Given the description of an element on the screen output the (x, y) to click on. 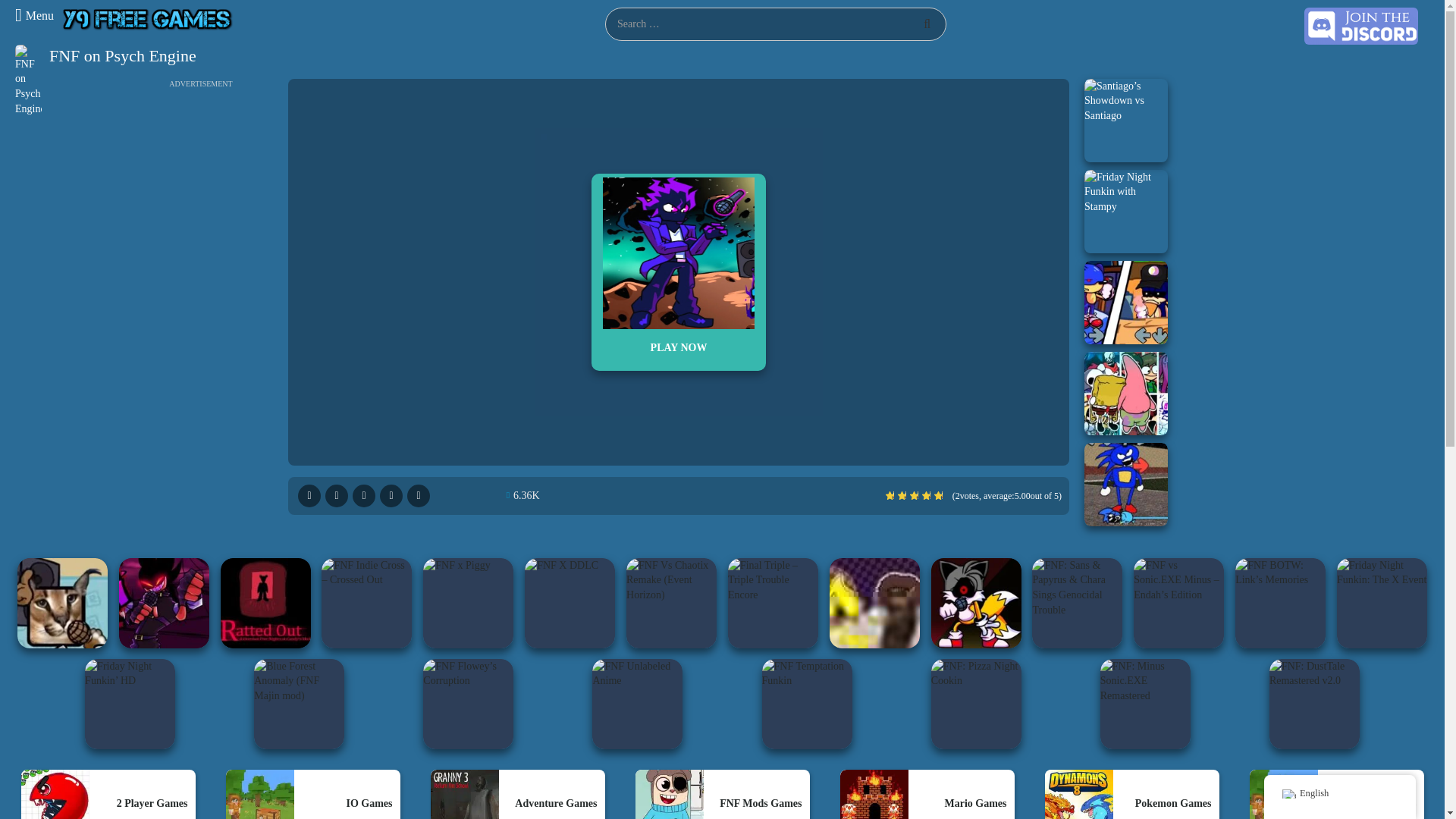
1 Star (889, 495)
Friday Night Funkin with Stampy (1125, 211)
FNF Dead Hope, but Mami, Miku, and Bendy Sing it (1125, 393)
Add to Favorites (418, 495)
Y9FreeGames.com (148, 20)
Refresh the Game (391, 495)
5 Stars (938, 495)
FNF Sanic Funkin (1125, 484)
Join us on Discord (1361, 25)
2 Stars (901, 495)
Report the Game (363, 495)
3 Stars (914, 495)
Play in fullscreen (309, 495)
4 Stars (925, 495)
Y9FreeGames.com (148, 18)
